Given the description of an element on the screen output the (x, y) to click on. 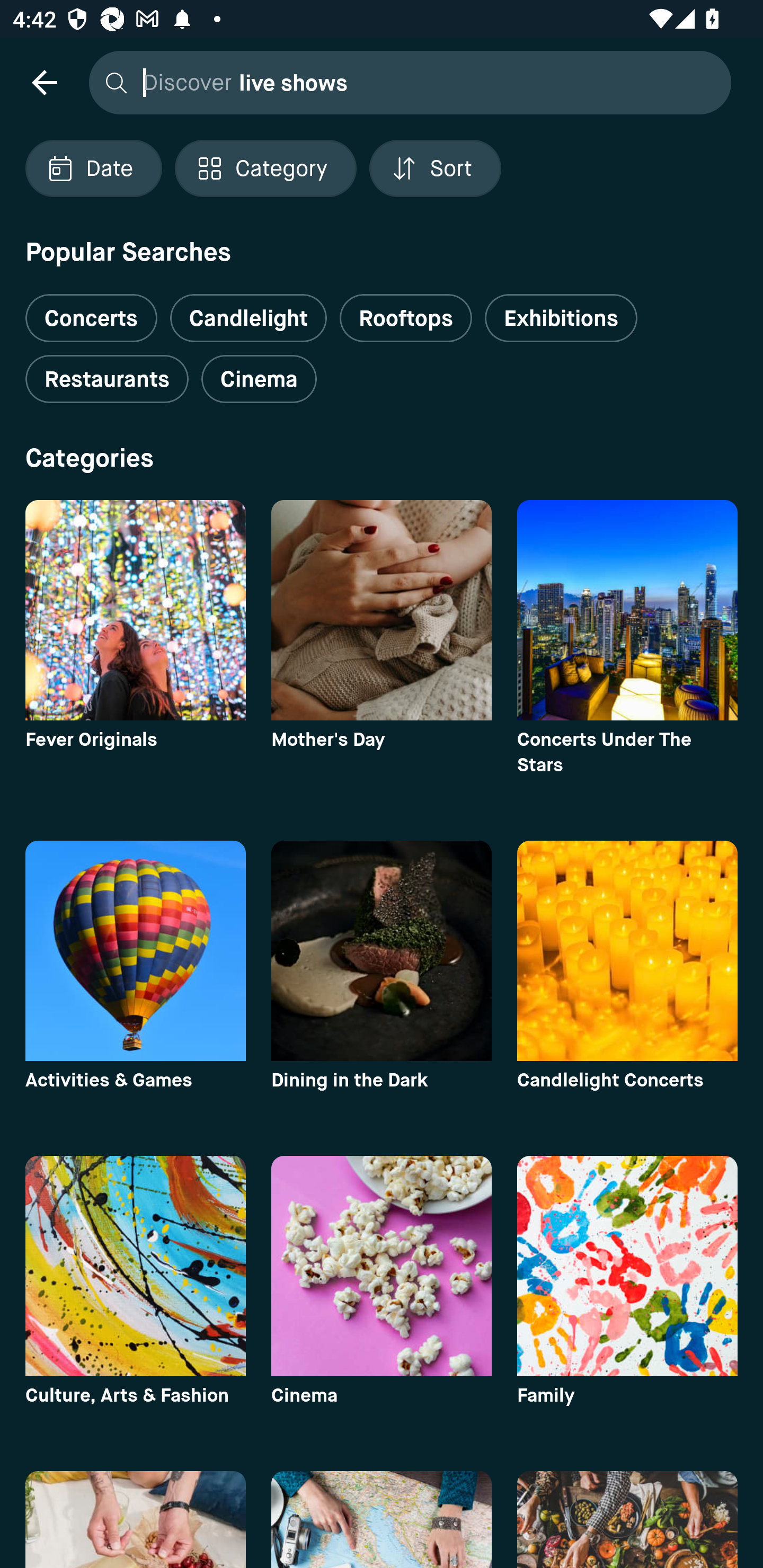
navigation icon (44, 81)
Discover live shows (405, 81)
Localized description Date (93, 168)
Localized description Category (265, 168)
Localized description Sort (435, 168)
Concerts (91, 310)
Candlelight (248, 317)
Rooftops (405, 317)
Exhibitions (560, 317)
Restaurants (106, 379)
Cinema (258, 379)
category image (135, 609)
category image (381, 609)
category image (627, 609)
category image (135, 950)
category image (381, 950)
category image (627, 950)
category image (135, 1265)
category image (381, 1265)
category image (627, 1265)
